Given the description of an element on the screen output the (x, y) to click on. 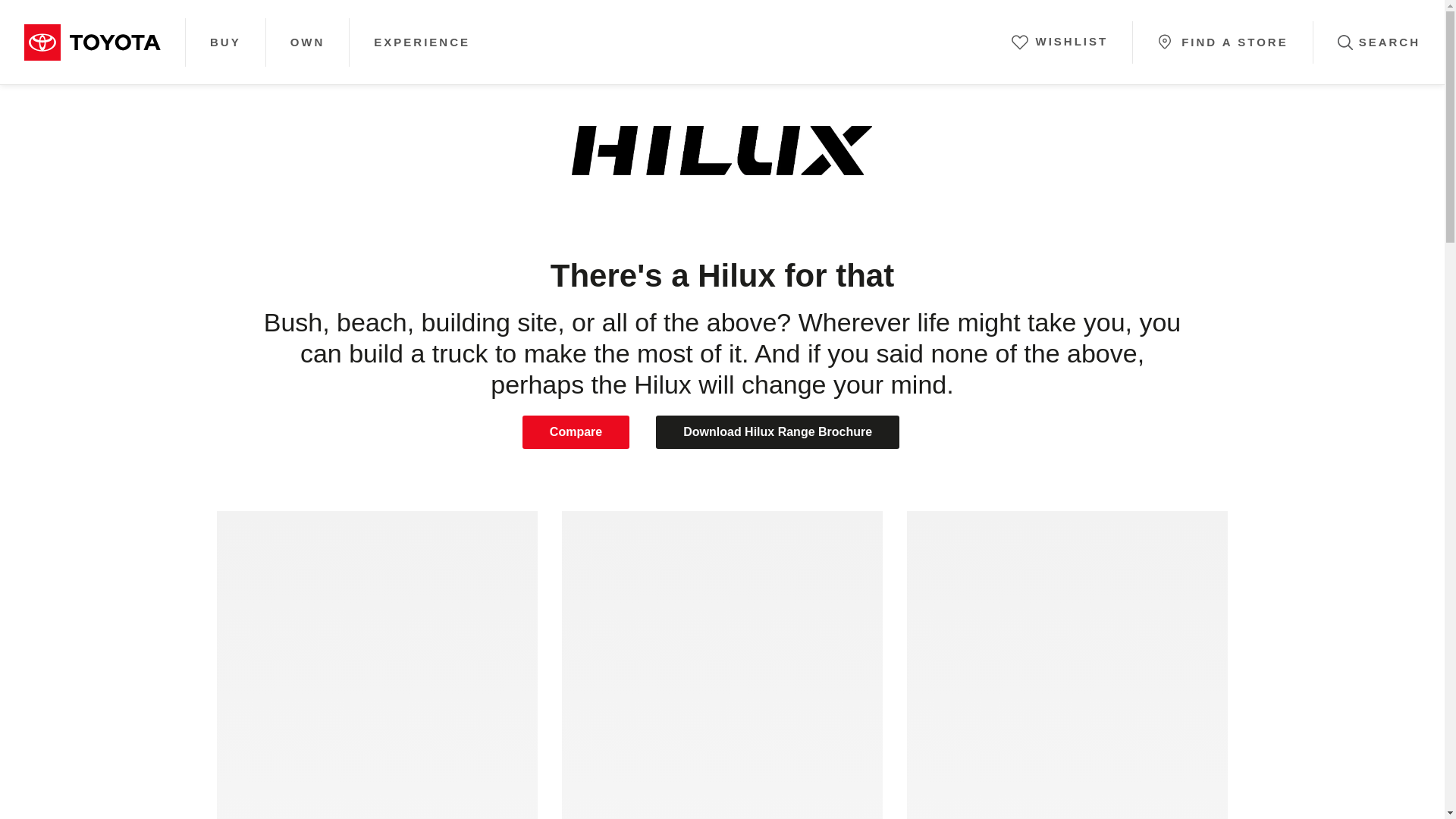
FIND A STORE (1221, 37)
Find a store (1233, 43)
Download Hilux Range Brochure (777, 431)
Compare (575, 431)
SEARCH (1379, 42)
